Given the description of an element on the screen output the (x, y) to click on. 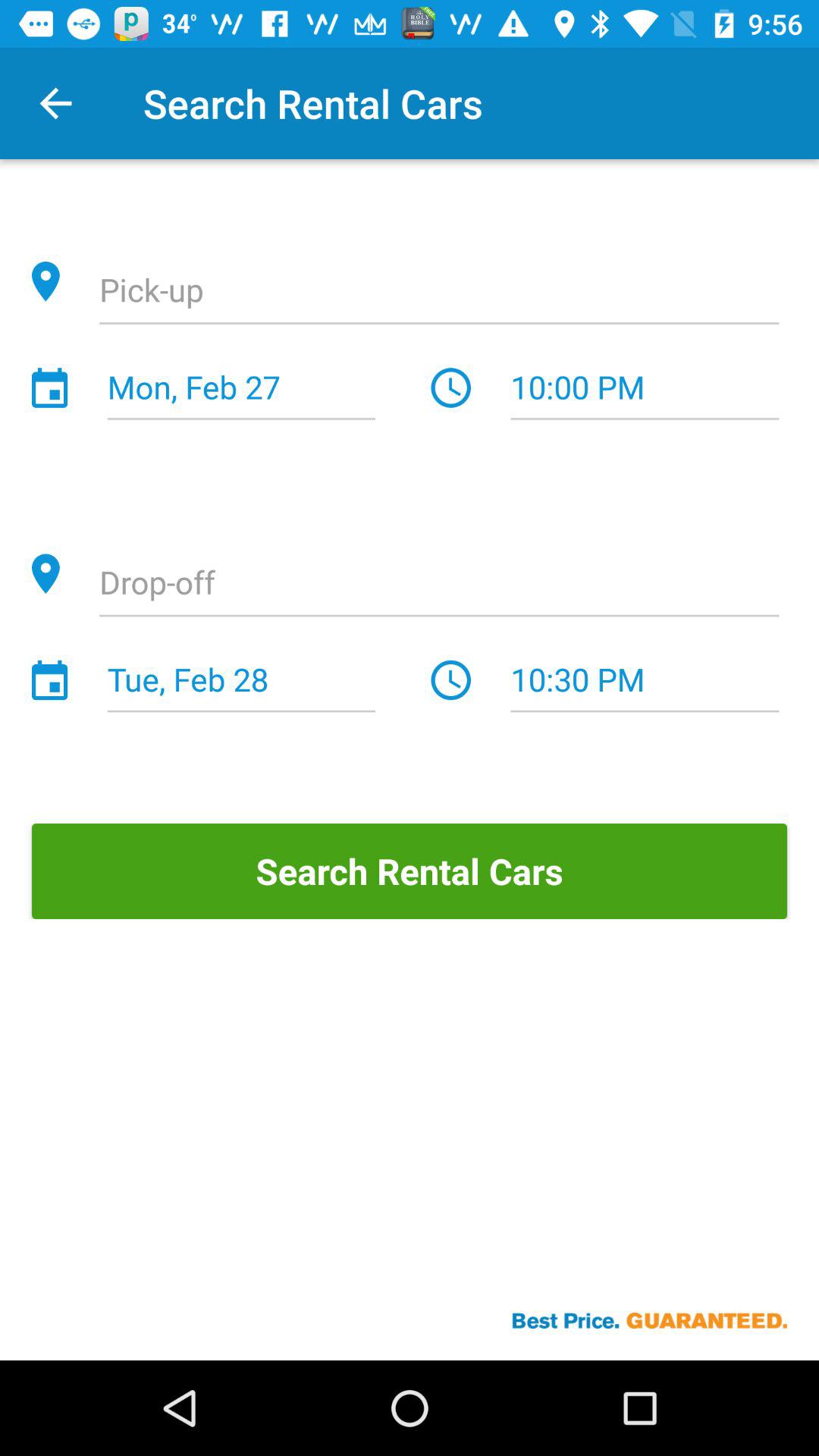
location option (439, 292)
